Given the description of an element on the screen output the (x, y) to click on. 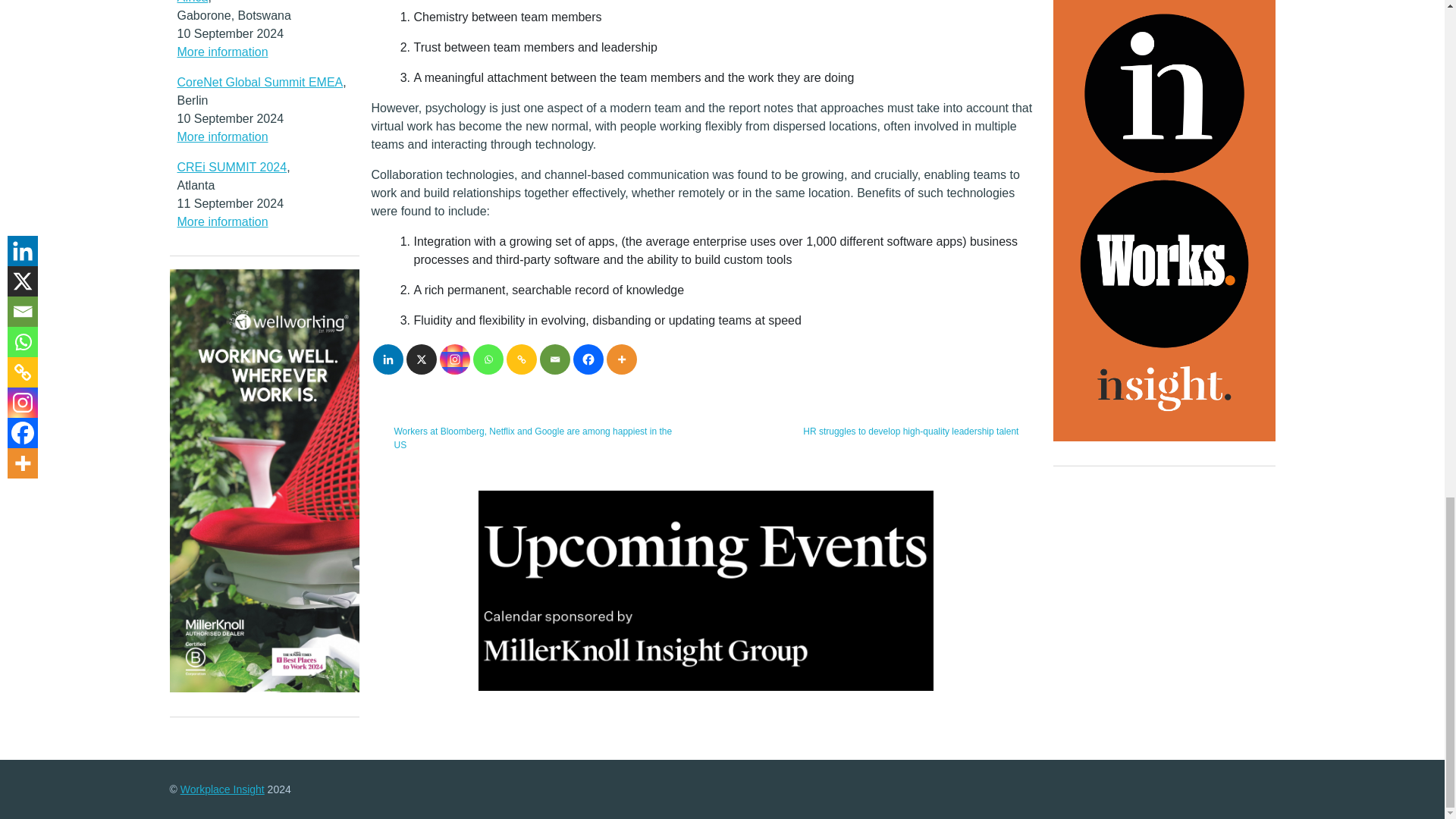
Whatsapp (488, 358)
More (622, 358)
Email (555, 358)
X (421, 358)
Instagram (454, 358)
Copy Link (521, 358)
Linkedin (387, 358)
Facebook (588, 358)
